Given the description of an element on the screen output the (x, y) to click on. 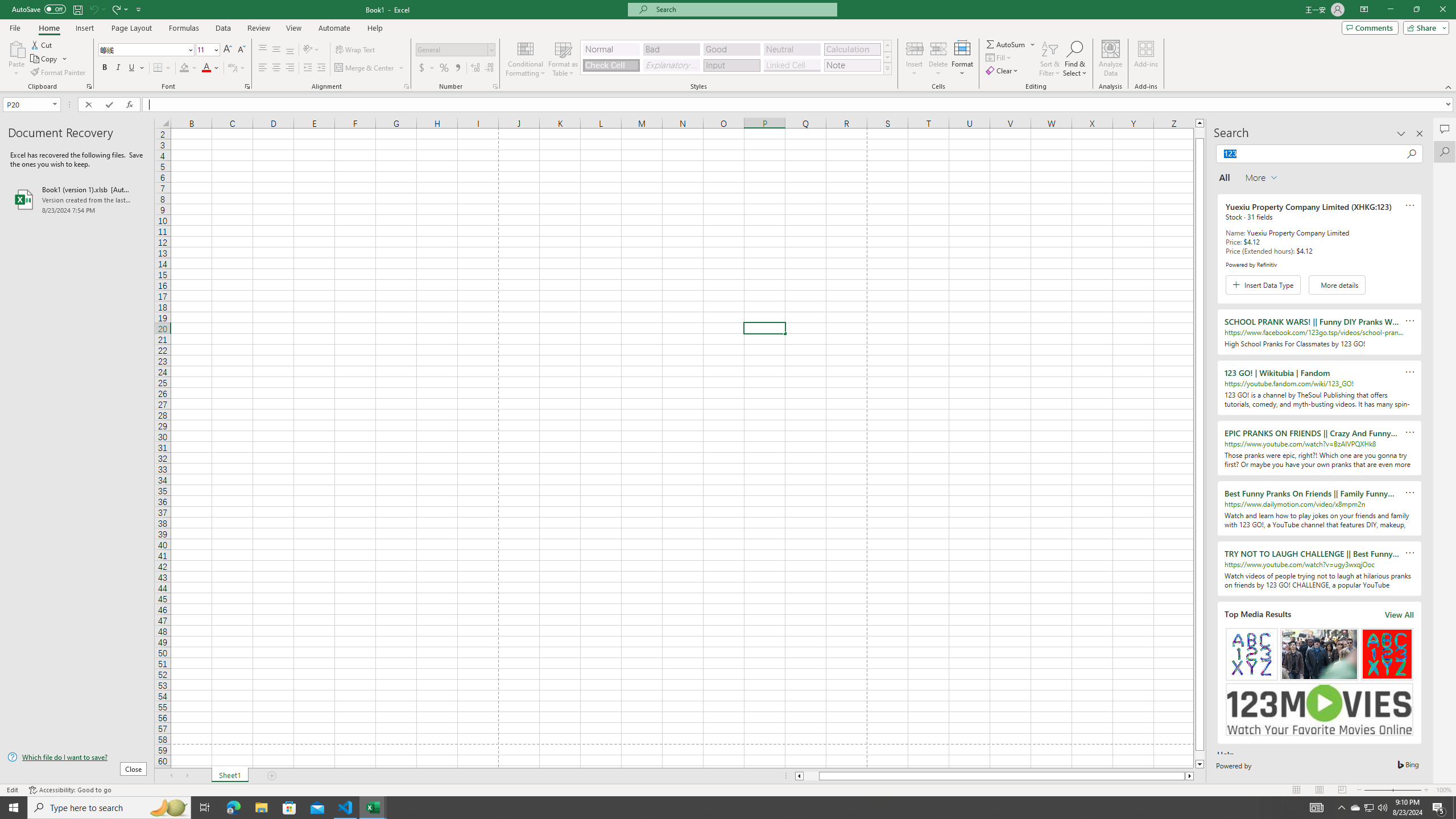
Bold (104, 67)
Align Left (262, 67)
Italic (118, 67)
Font Color RGB(255, 0, 0) (206, 67)
Accounting Number Format (426, 67)
Merge & Center (365, 67)
Middle Align (276, 49)
Format Cell Font (247, 85)
